Given the description of an element on the screen output the (x, y) to click on. 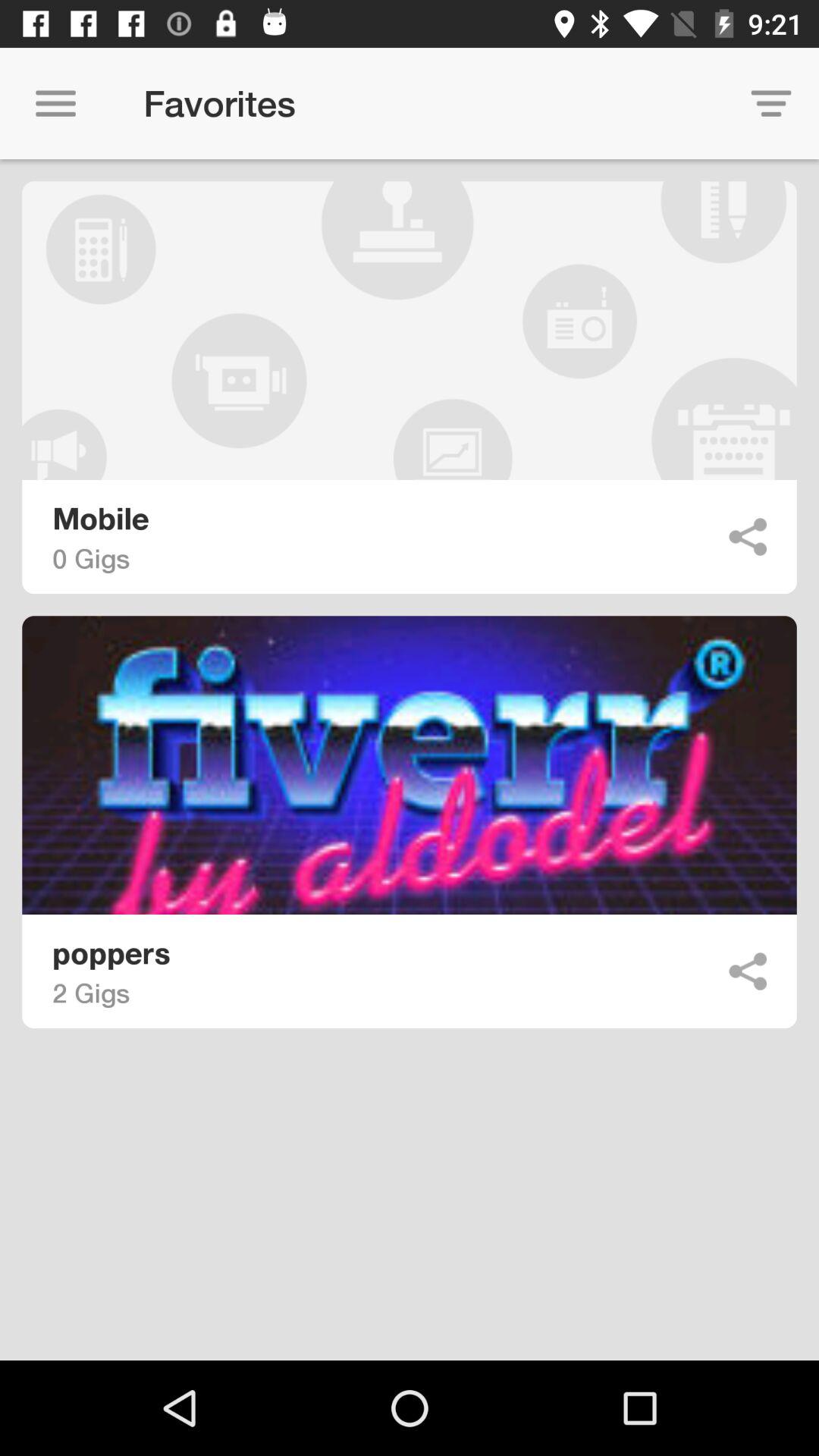
share the article (747, 971)
